Given the description of an element on the screen output the (x, y) to click on. 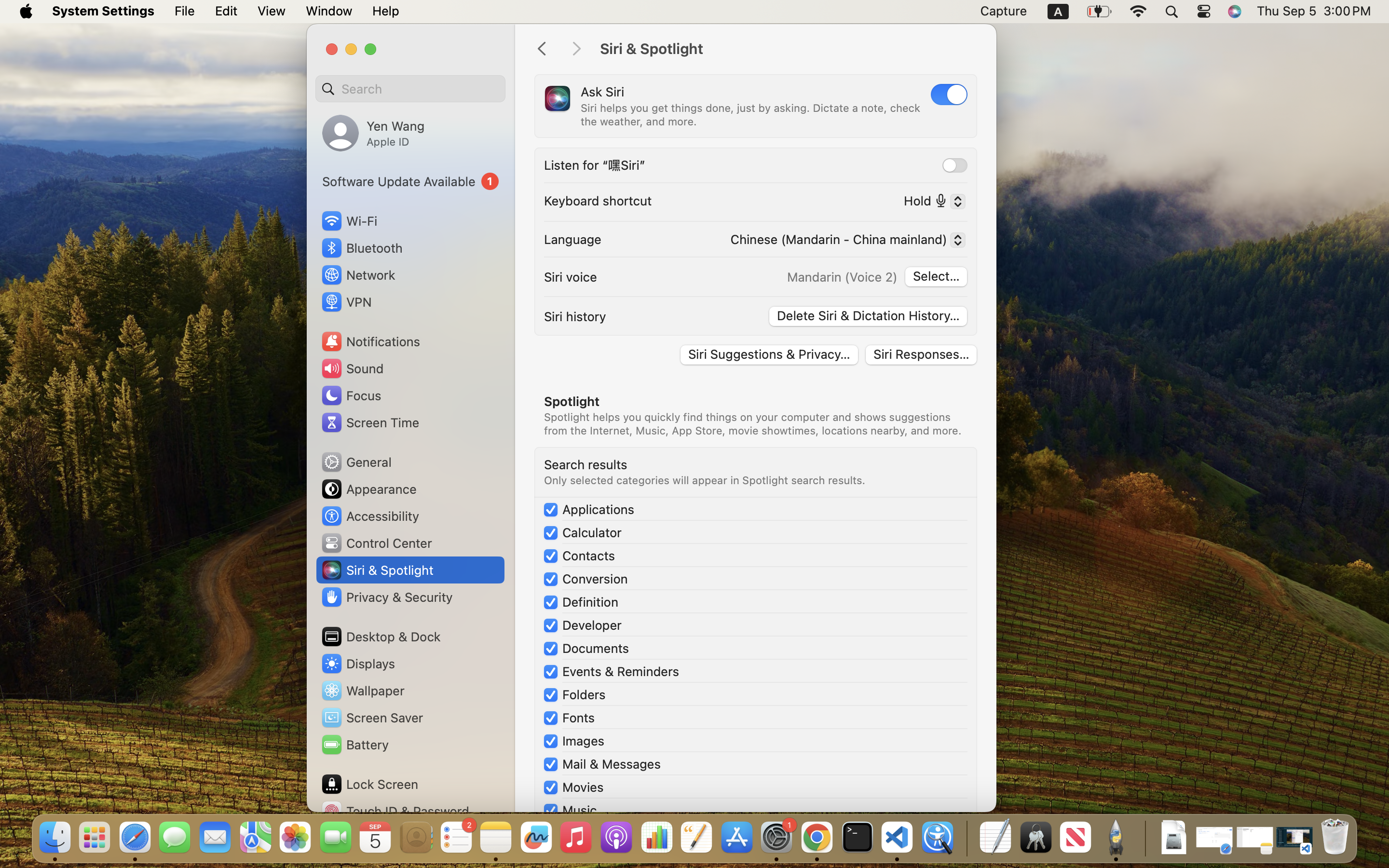
Keyboard shortcut Element type: AXStaticText (598, 200)
Yen Wang, Apple ID Element type: AXStaticText (373, 132)
Siri history Element type: AXStaticText (574, 316)
